Given the description of an element on the screen output the (x, y) to click on. 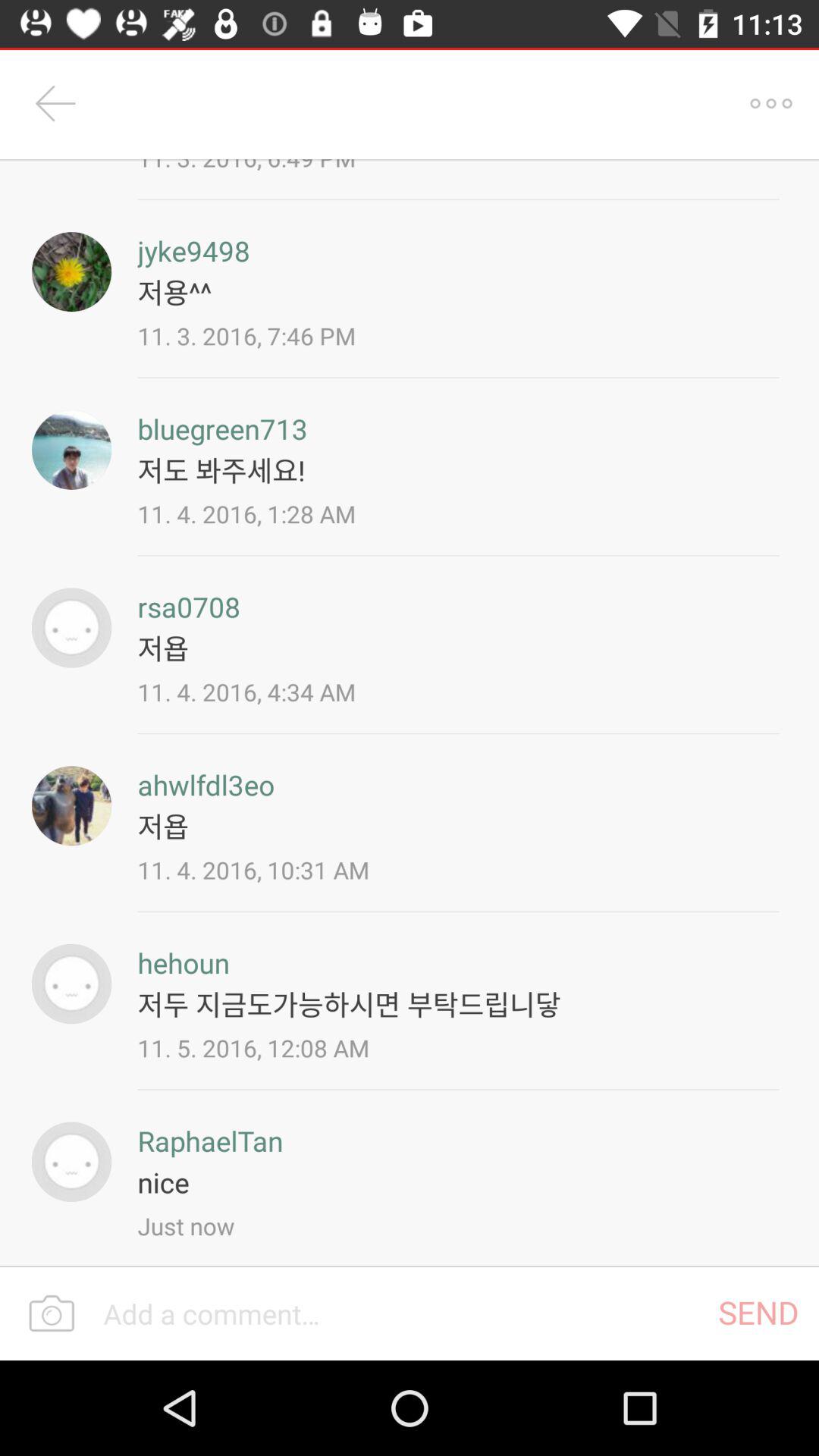
ahwlfdl3eo (71, 805)
